Given the description of an element on the screen output the (x, y) to click on. 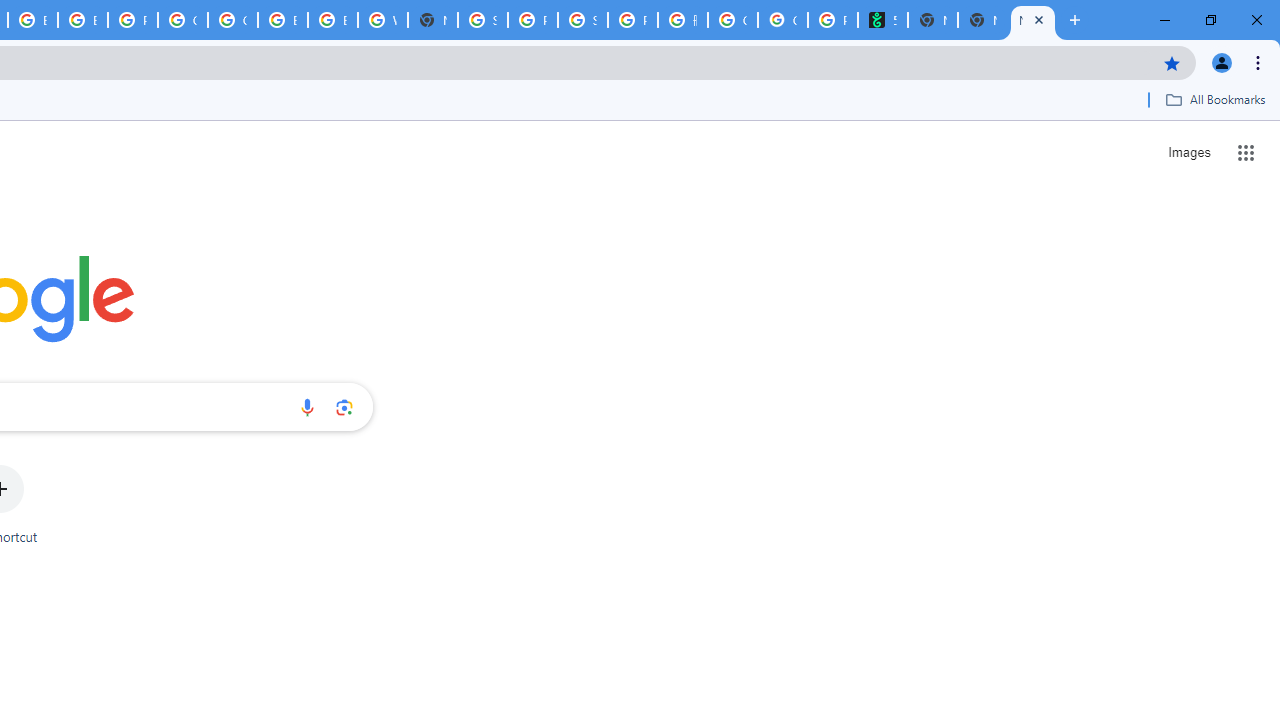
Browse Chrome as a guest - Computer - Google Chrome Help (283, 20)
